Given the description of an element on the screen output the (x, y) to click on. 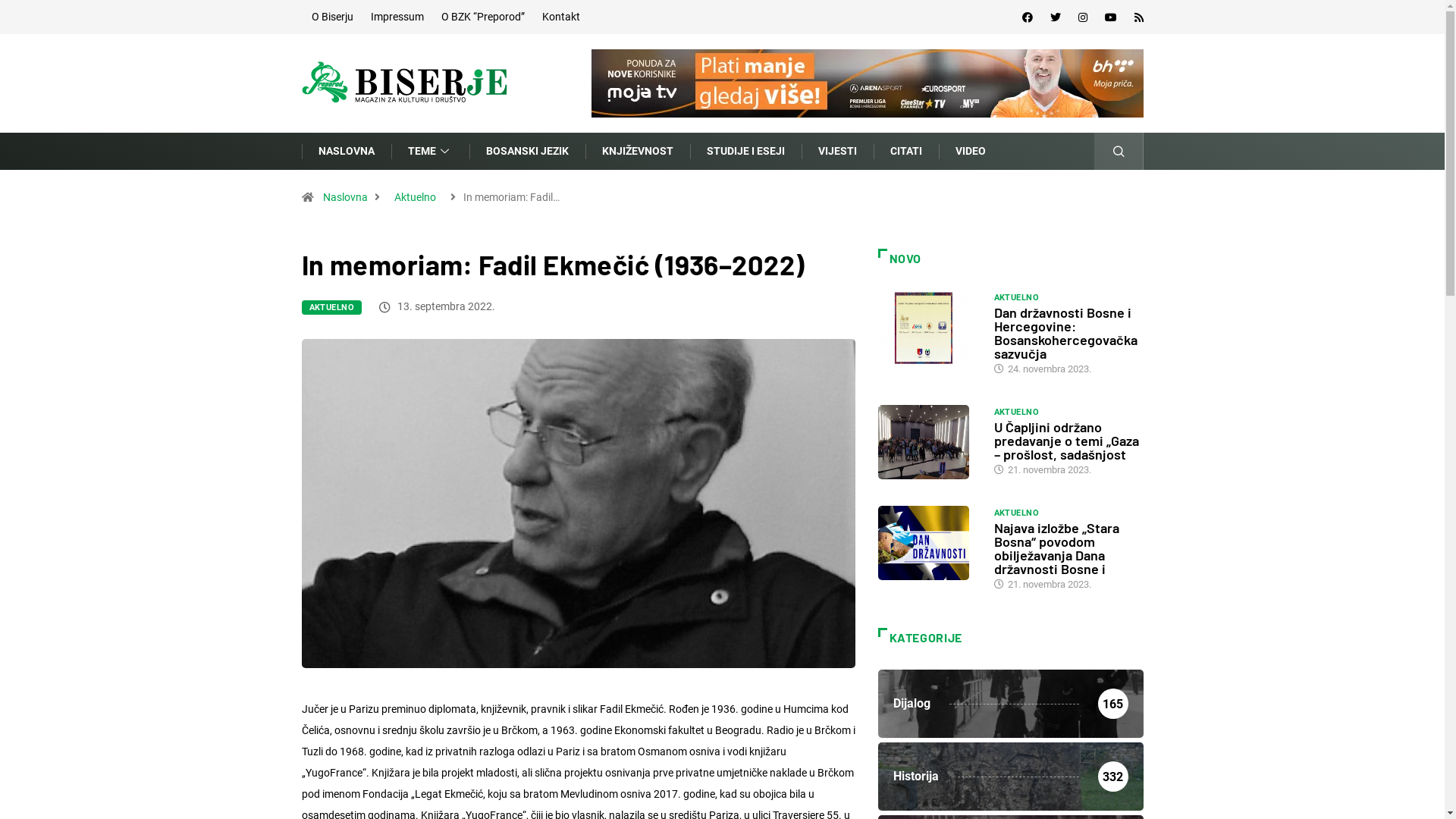
Facebook Element type: hover (1027, 17)
VIJESTI Element type: text (836, 150)
O Biserju Element type: text (331, 16)
Kontakt Element type: text (560, 16)
AKTUELNO Element type: text (1015, 297)
Youtube Element type: hover (1110, 17)
Naslovna Element type: text (344, 197)
Instagram Element type: hover (1082, 17)
Twitter Element type: hover (1054, 17)
BOSANSKI JEZIK Element type: text (526, 150)
VIDEO Element type: text (970, 150)
Impressum Element type: text (396, 16)
CITATI Element type: text (905, 150)
TEME Element type: text (430, 150)
AKTUELNO Element type: text (331, 307)
RSS Element type: hover (1138, 17)
STUDIJE I ESEJI Element type: text (745, 150)
Historija
332 Element type: text (1010, 776)
AKTUELNO Element type: text (1015, 512)
NASLOVNA Element type: text (346, 150)
Dijalog
165 Element type: text (1010, 703)
Aktuelno Element type: text (414, 197)
AKTUELNO Element type: text (1015, 412)
